Given the description of an element on the screen output the (x, y) to click on. 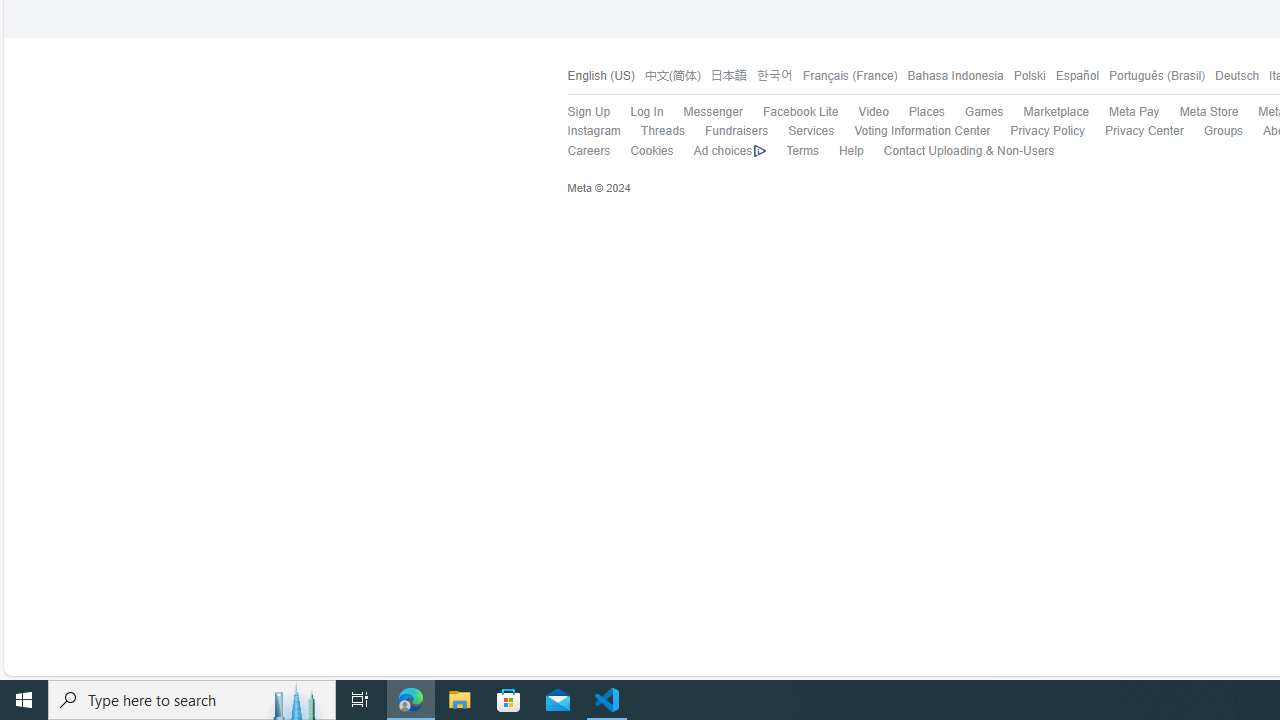
Privacy Policy (1037, 131)
Services (811, 130)
Meta Store (1198, 112)
Deutsch (1236, 76)
